Given the description of an element on the screen output the (x, y) to click on. 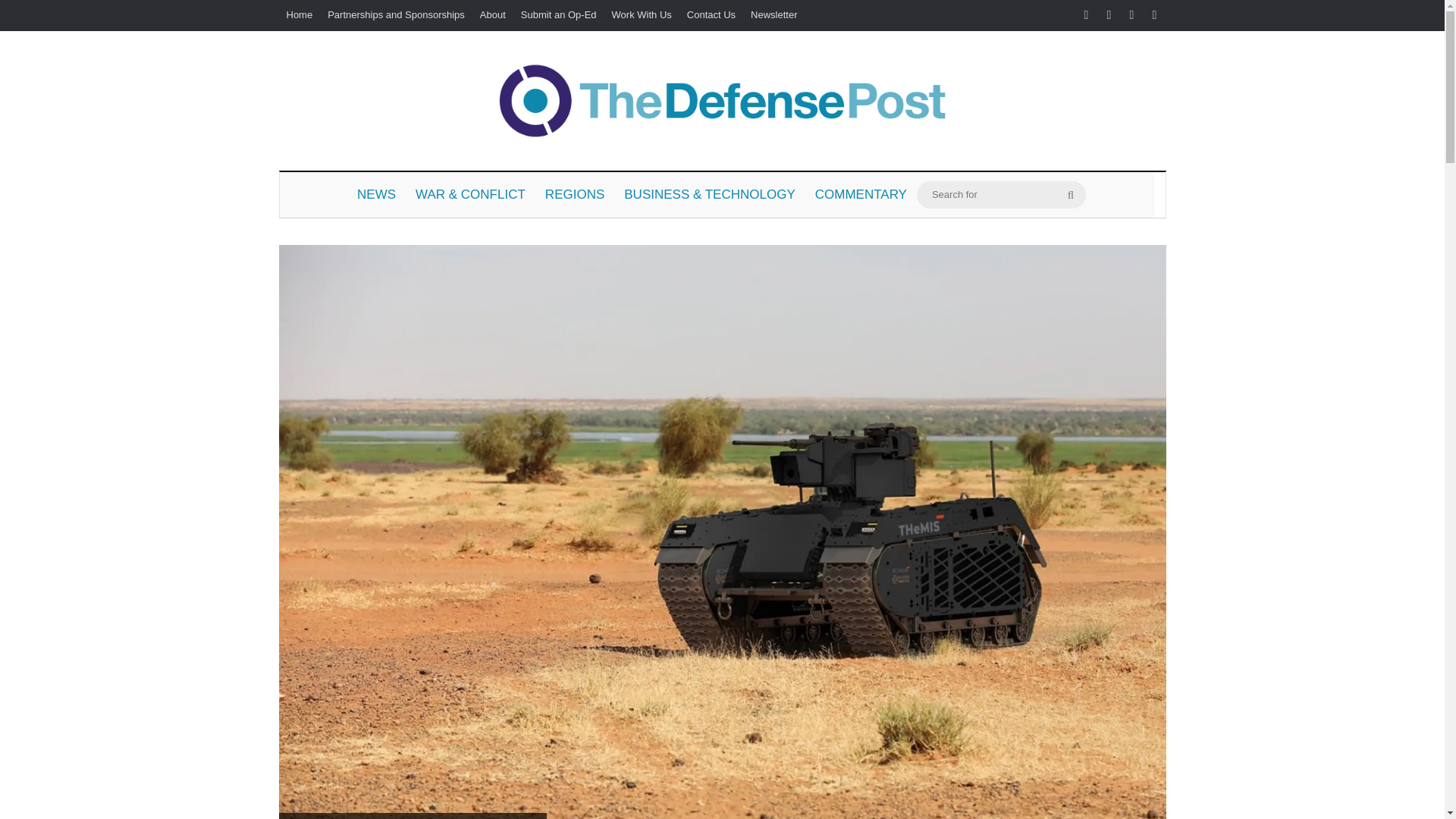
Submit an Op-Ed (558, 15)
About (492, 15)
Work With Us (641, 15)
REGIONS (574, 194)
NEWS (376, 194)
Contact Us (710, 15)
Home (299, 15)
Partnerships and Sponsorships (395, 15)
Search for (1001, 194)
Global defense news, analysis and opinion (722, 100)
Search for (1070, 194)
Newsletter (773, 15)
COMMENTARY (861, 194)
